Given the description of an element on the screen output the (x, y) to click on. 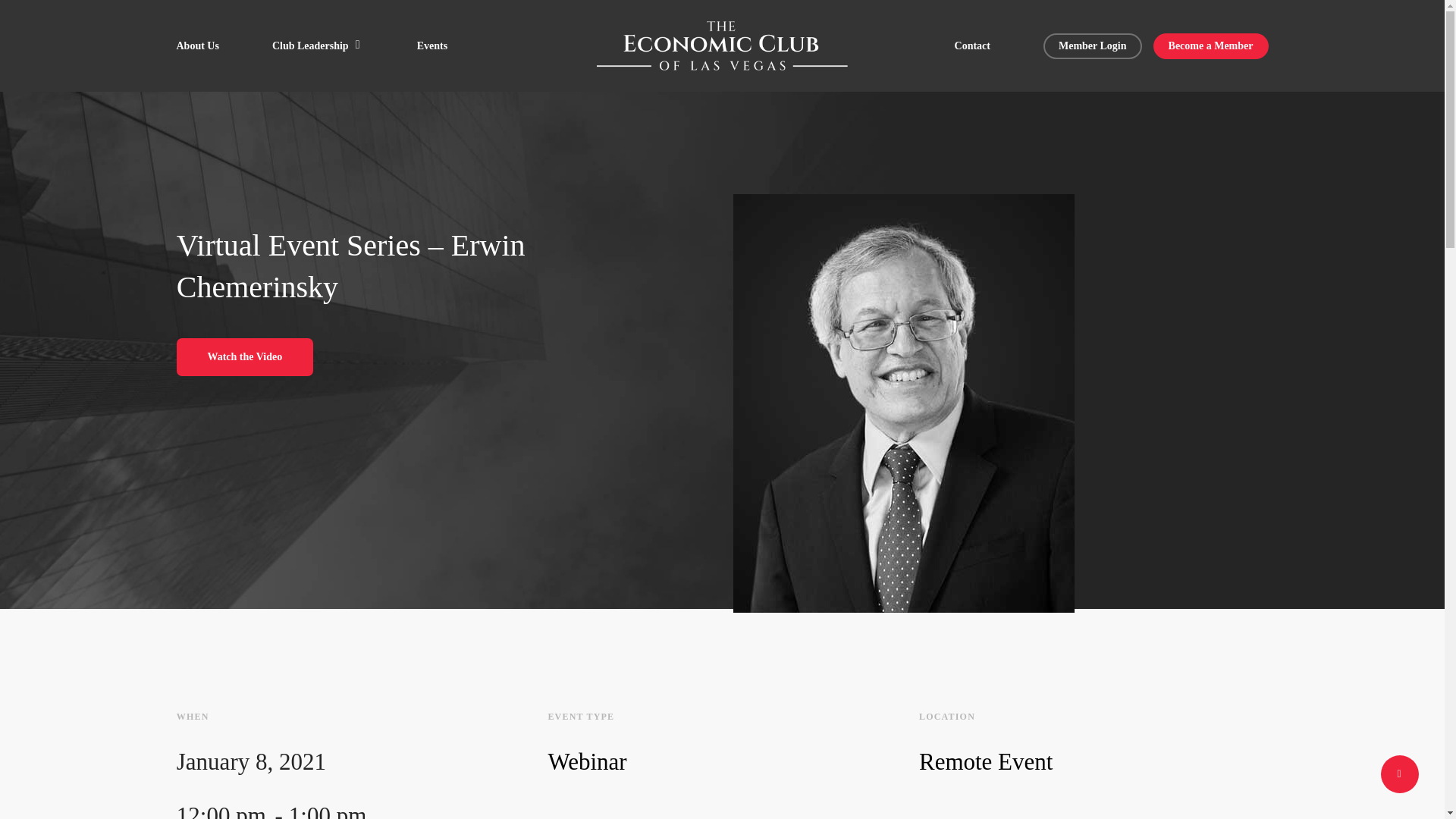
Club Leadership (318, 46)
Become a Member (1210, 46)
Member Login (1092, 46)
Contact (972, 46)
Watch the Video (244, 356)
Events (431, 46)
About Us (197, 46)
